Given the description of an element on the screen output the (x, y) to click on. 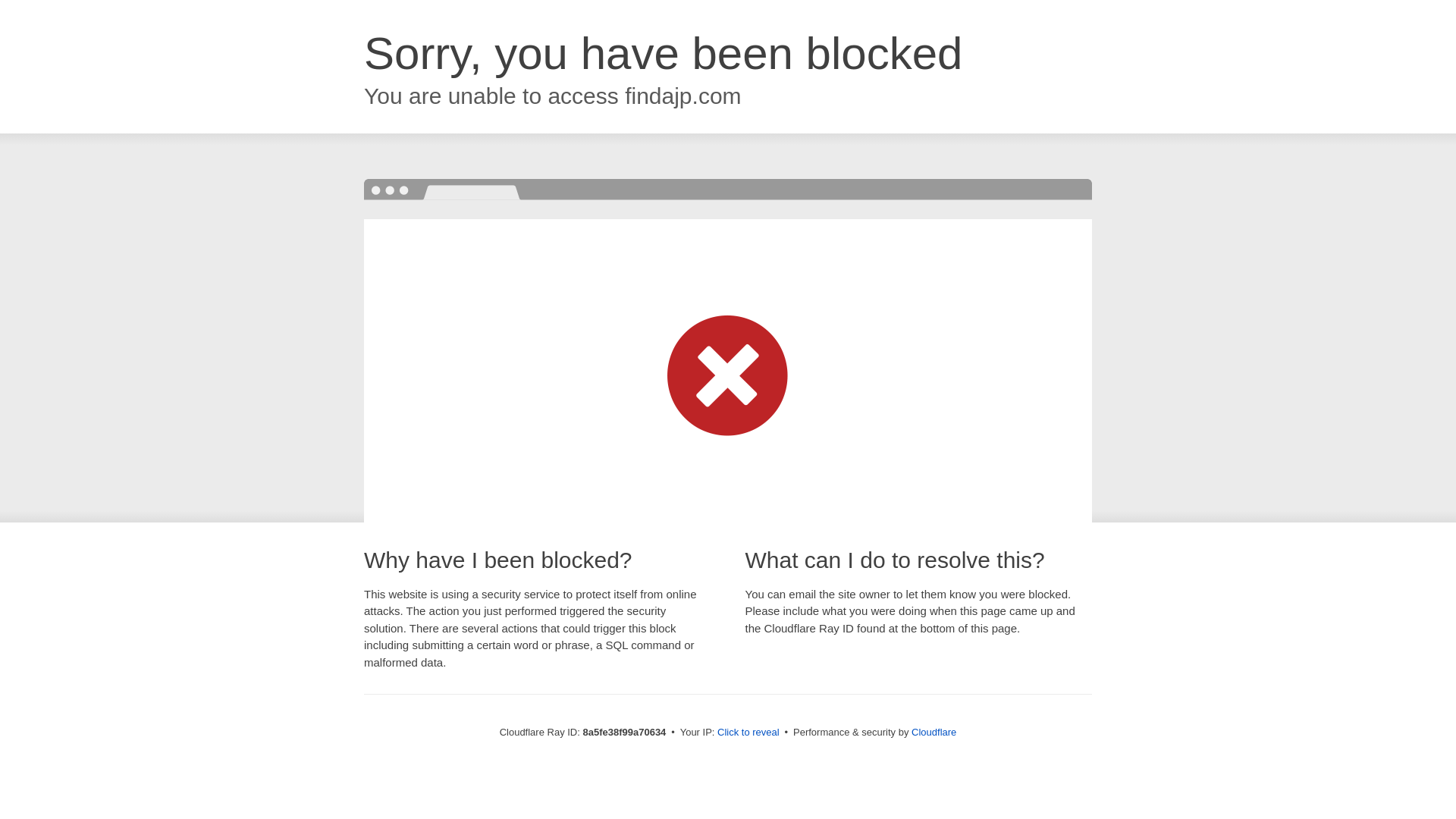
Cloudflare (933, 731)
Click to reveal (747, 732)
